Given the description of an element on the screen output the (x, y) to click on. 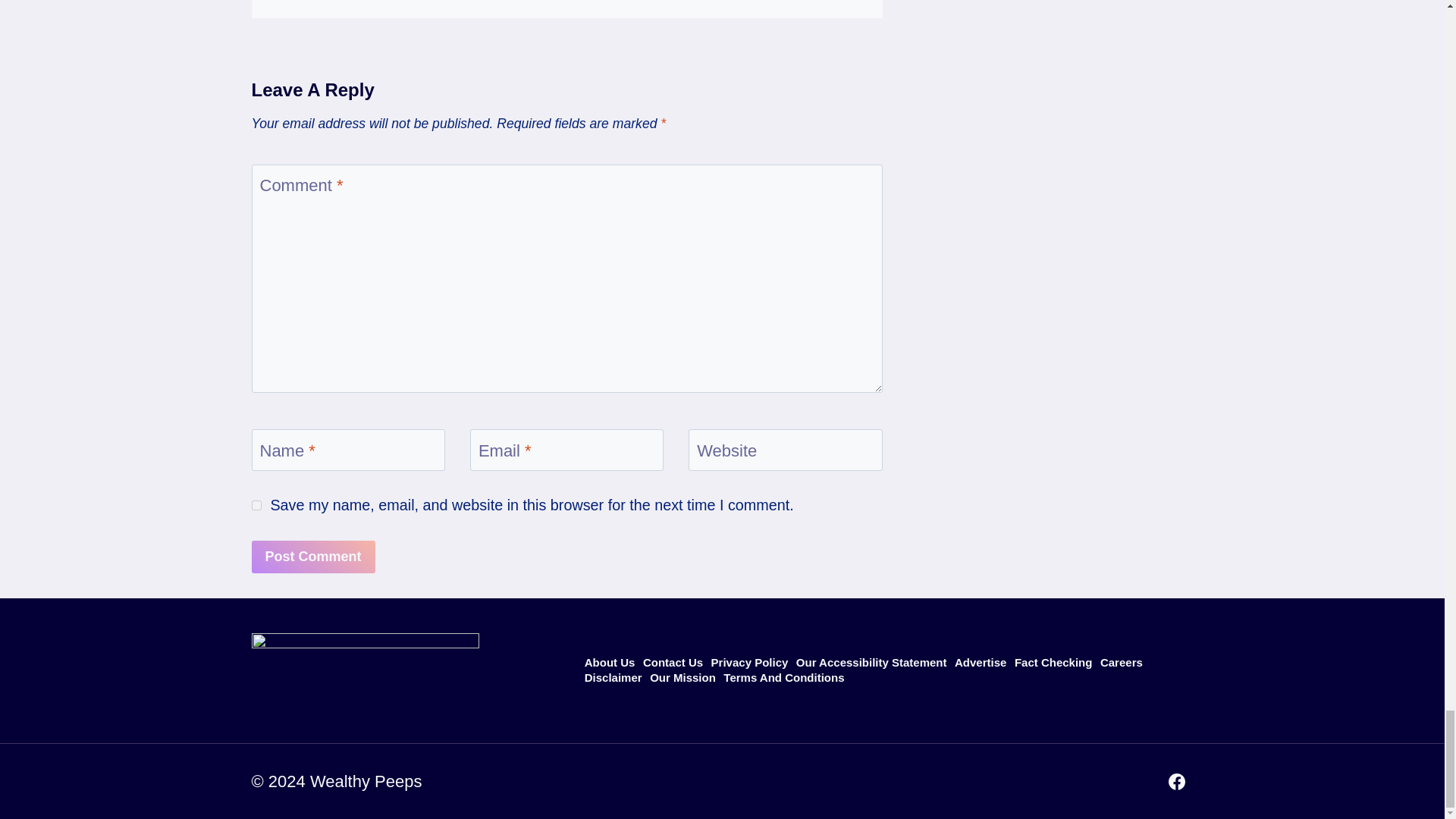
Post Comment (313, 556)
yes (256, 505)
